Given the description of an element on the screen output the (x, y) to click on. 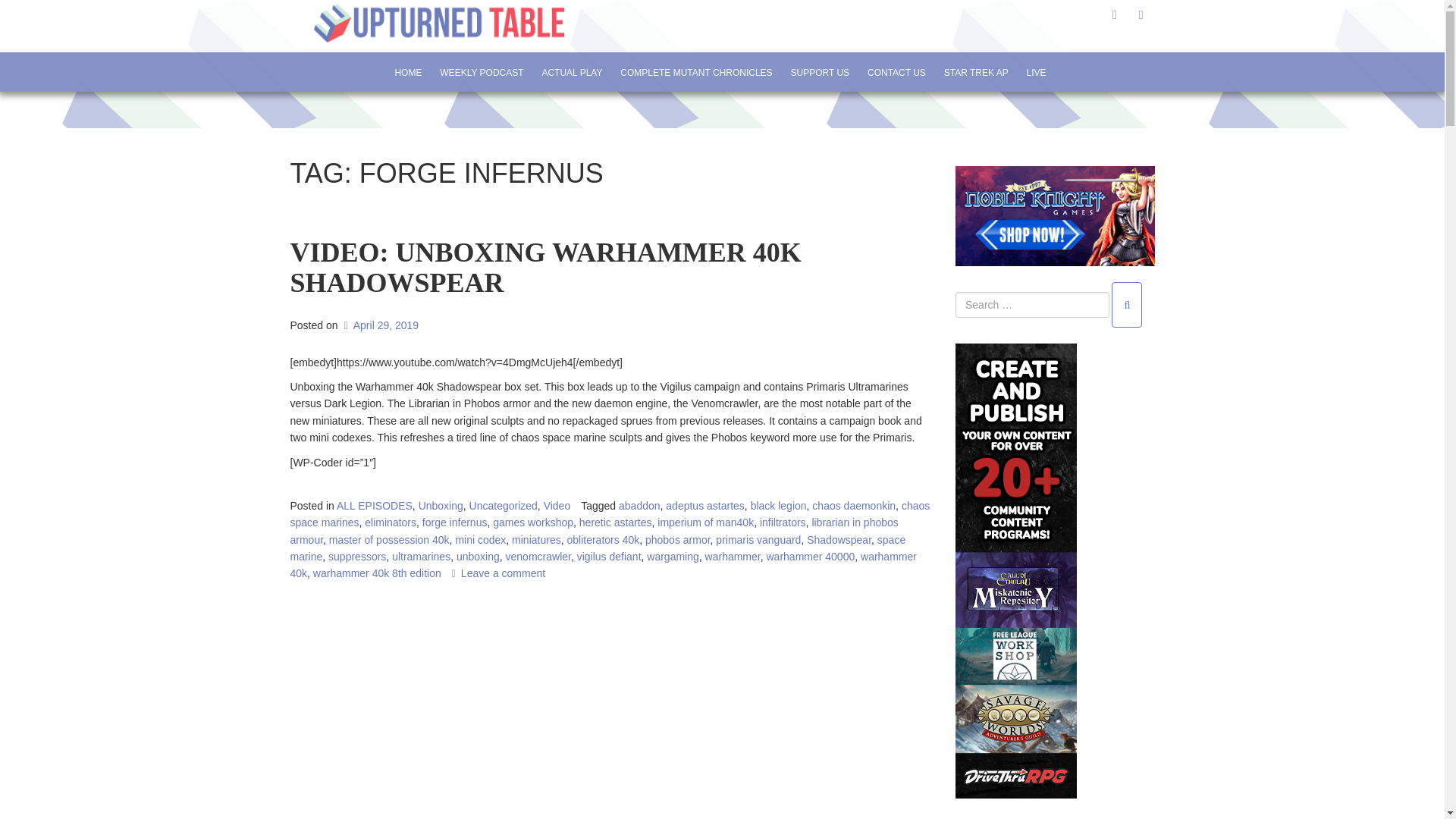
Unboxing (441, 505)
April 29, 2019 (379, 325)
imperium of man40k (706, 522)
obliterators 40k (602, 539)
TWITTER (1114, 14)
SUPPORT US (820, 72)
space marine (597, 547)
LIVE (1036, 72)
Video (556, 505)
primaris vanguard (758, 539)
